Given the description of an element on the screen output the (x, y) to click on. 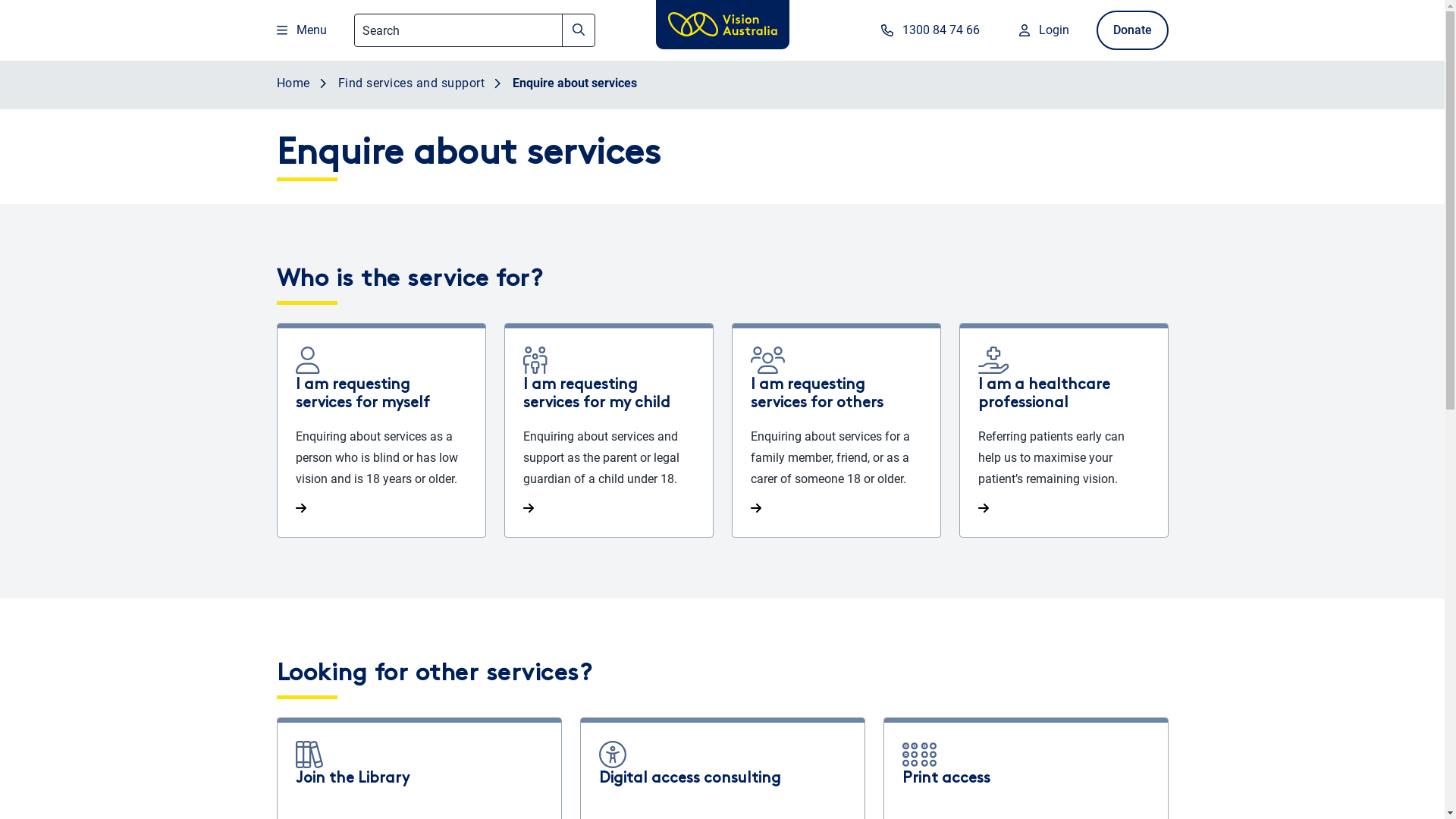
Home Element type: text (292, 84)
Find services and support Element type: text (396, 84)
Menu Element type: text (299, 30)
Read more about I am requesting services for my child Element type: text (608, 429)
Login Element type: text (1042, 30)
Read more about I am requesting services for myself Element type: text (381, 429)
1300 84 74 66 Element type: text (928, 30)
Donate Element type: text (1132, 30)
Read more about I am a healthcare professional Element type: text (1063, 429)
Read more about I am requesting services for others Element type: text (836, 429)
